Given the description of an element on the screen output the (x, y) to click on. 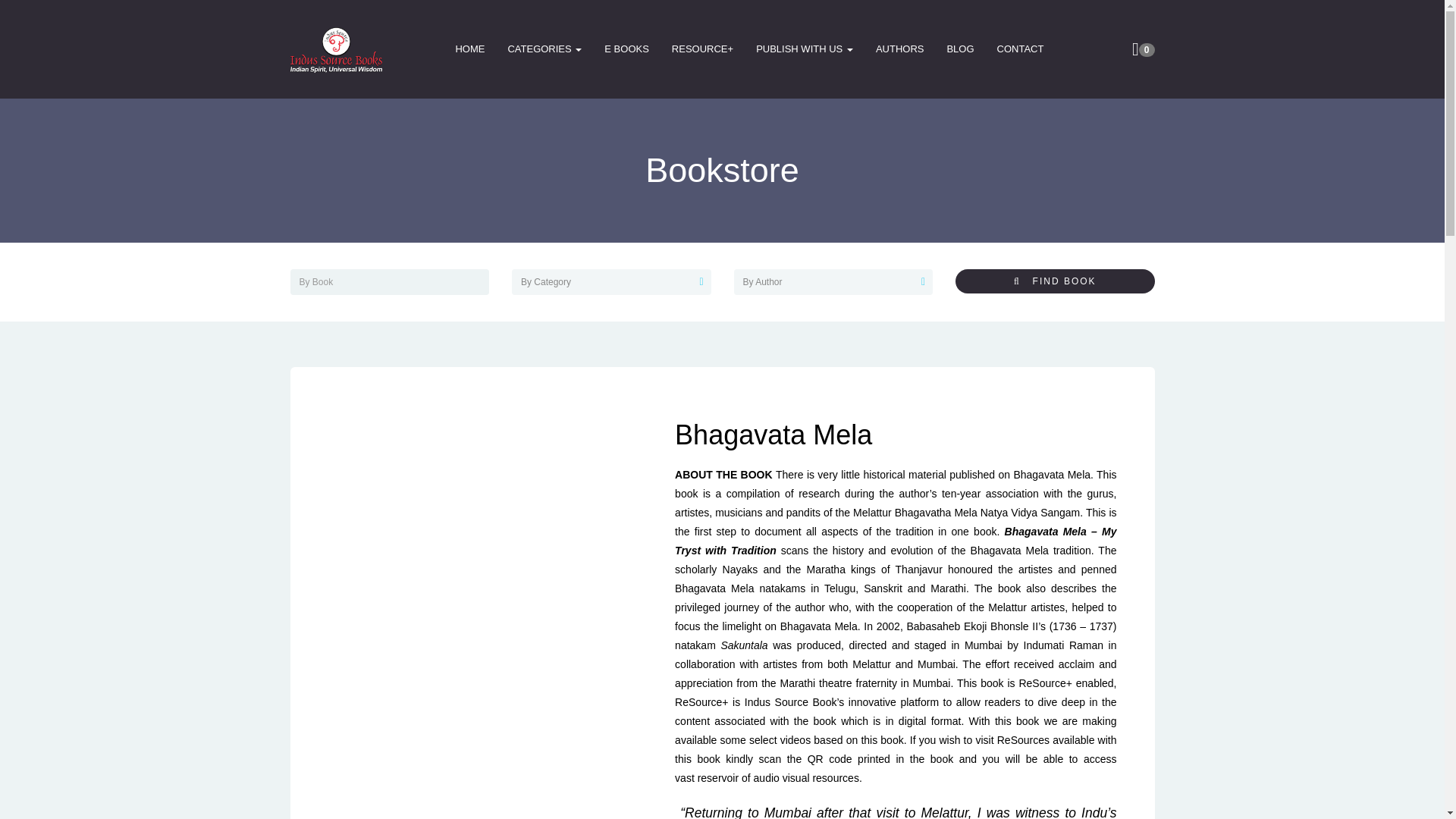
BLOG (959, 49)
E BOOKS (626, 49)
  FIND BOOK (1054, 281)
HOME (470, 49)
AUTHORS (900, 49)
Categories (544, 49)
CATEGORIES (544, 49)
Home (470, 49)
PUBLISH WITH US (804, 49)
CONTACT (1020, 49)
